Given the description of an element on the screen output the (x, y) to click on. 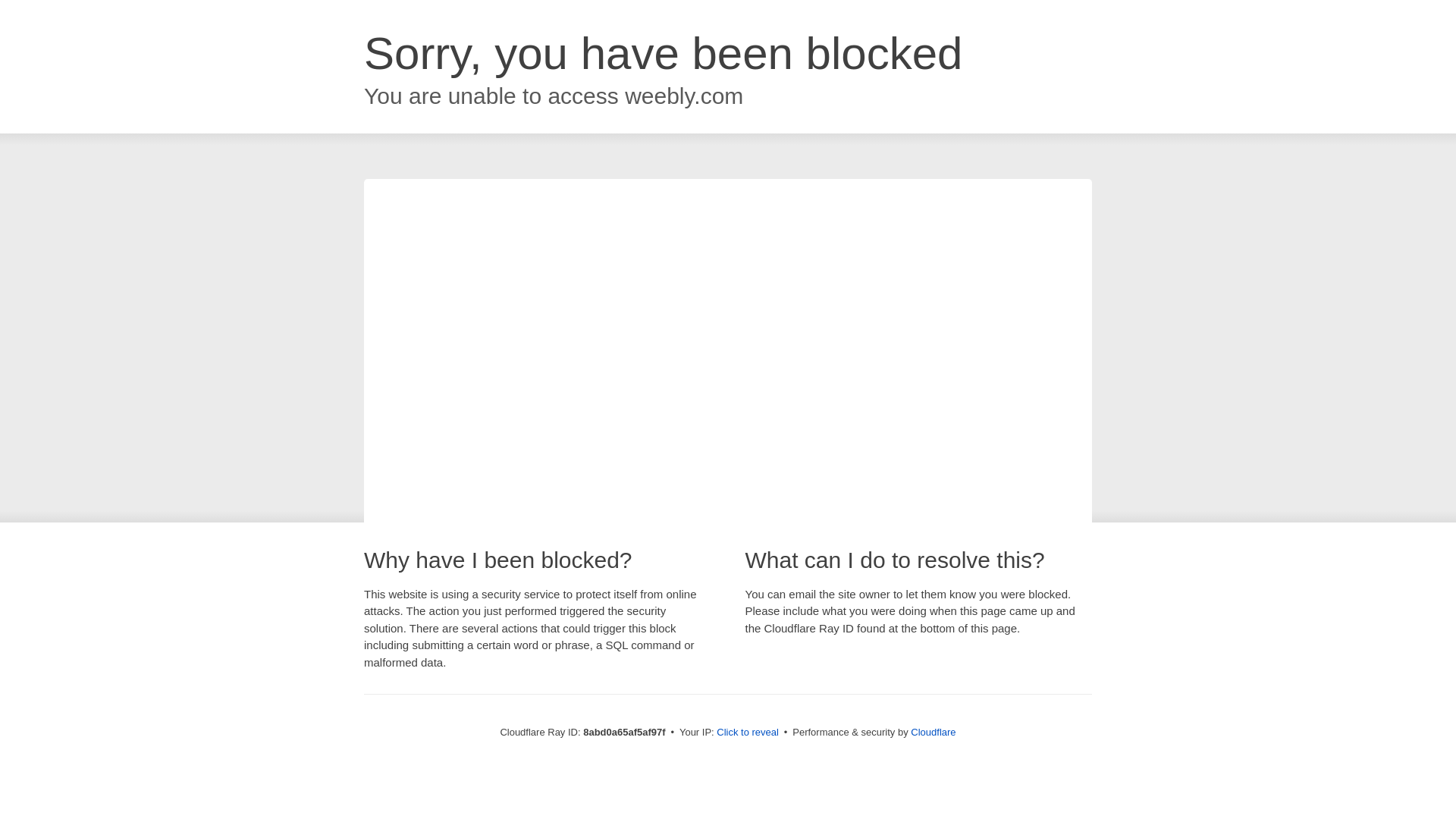
Click to reveal (747, 732)
Cloudflare (933, 731)
